Given the description of an element on the screen output the (x, y) to click on. 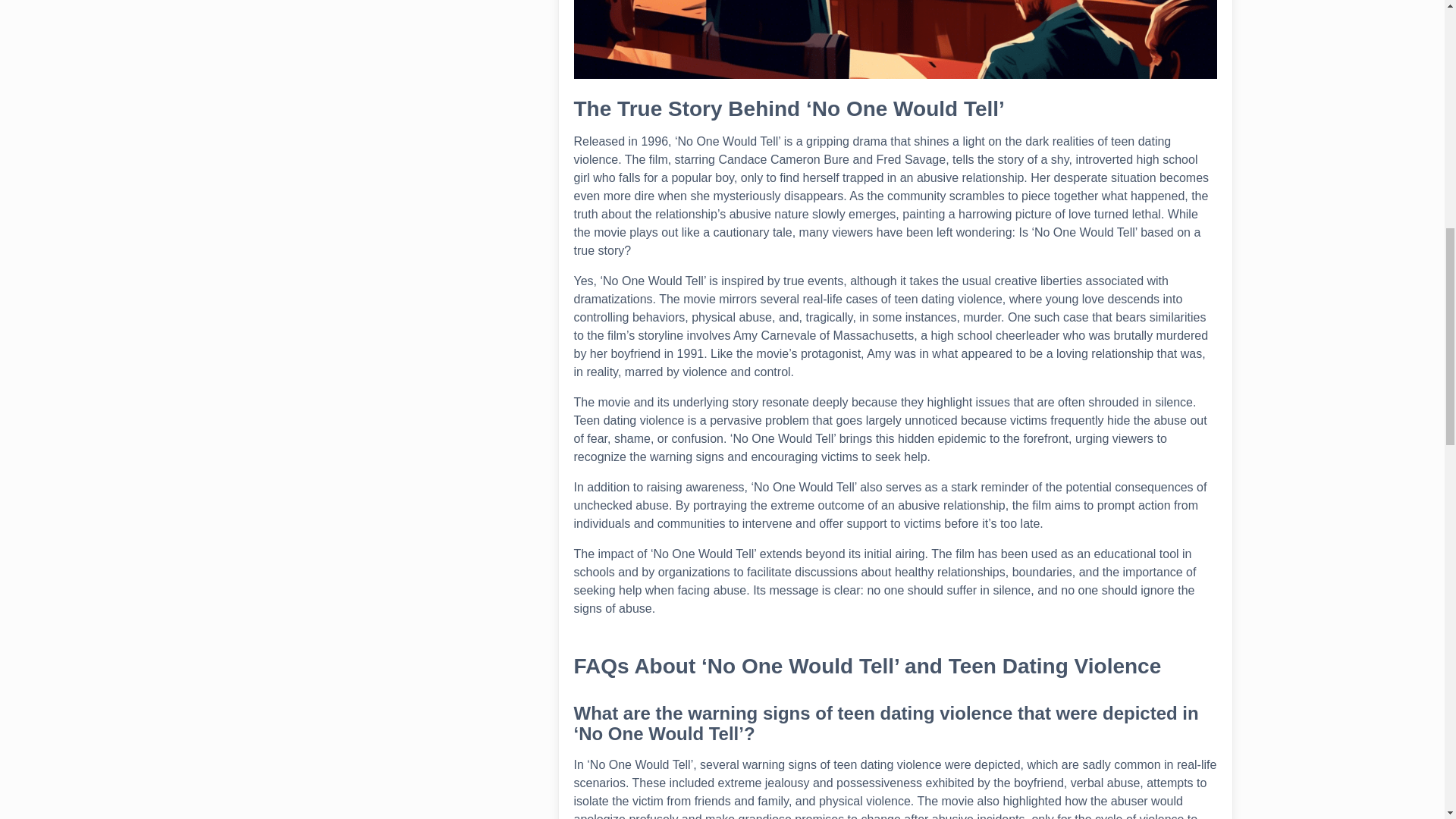
The True Story Behind 'No One Would Tell' 1 (895, 39)
